Given the description of an element on the screen output the (x, y) to click on. 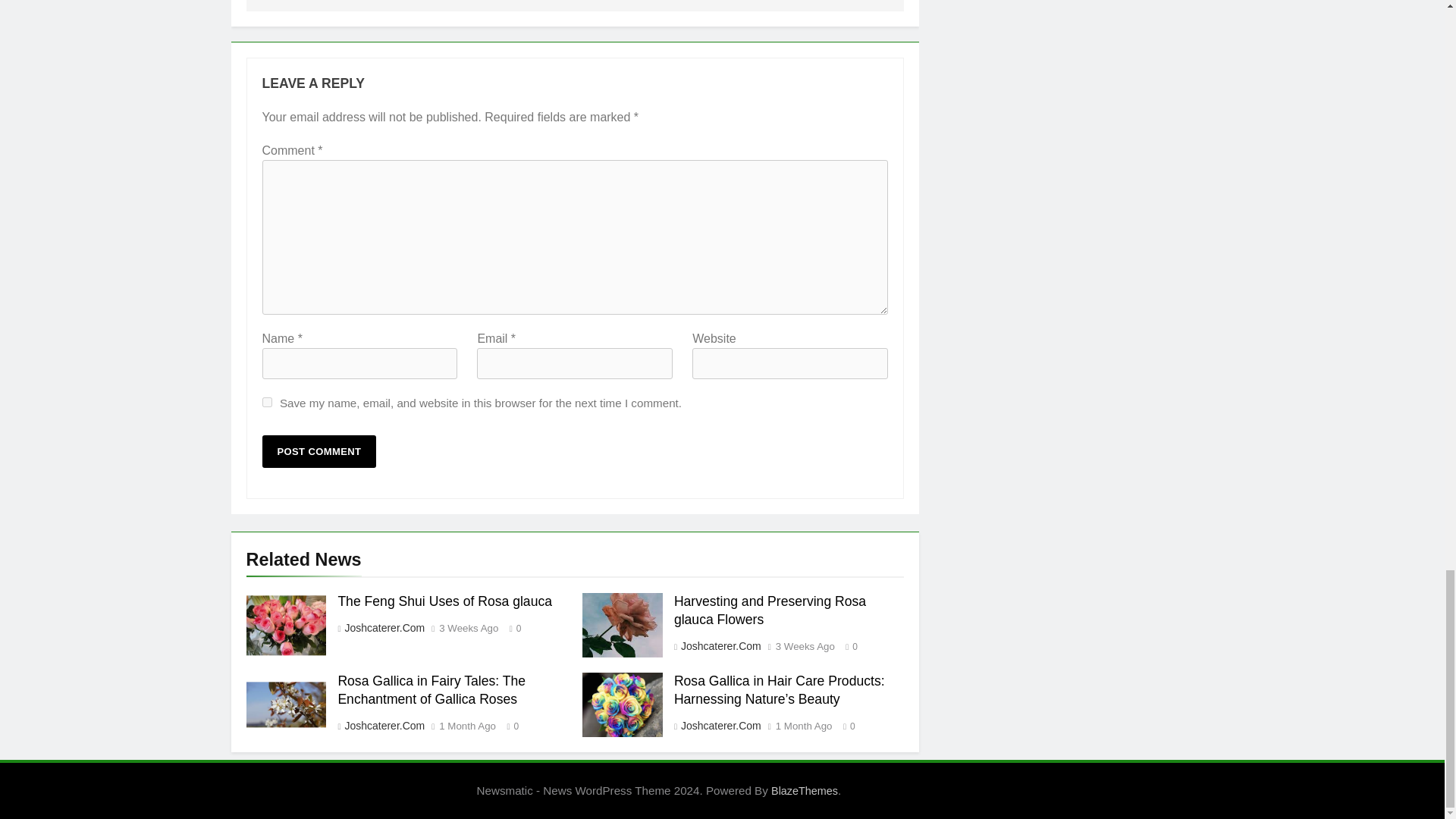
Post Comment (319, 450)
yes (267, 402)
